Given the description of an element on the screen output the (x, y) to click on. 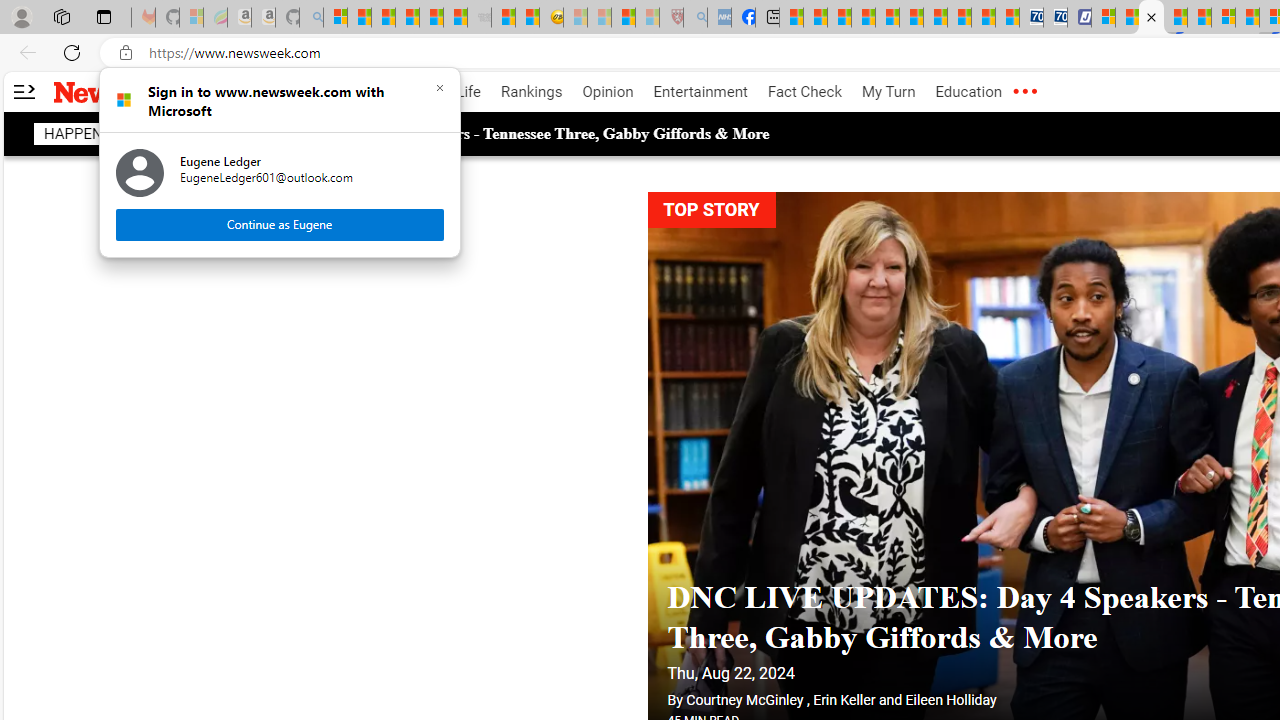
12 Popular Science Lies that Must be Corrected - Sleeping (647, 17)
Continue as Eugene (280, 224)
New Report Confirms 2023 Was Record Hot | Watch (430, 17)
Fact Check (804, 92)
Cheap Hotels - Save70.com (1055, 17)
